Given the description of an element on the screen output the (x, y) to click on. 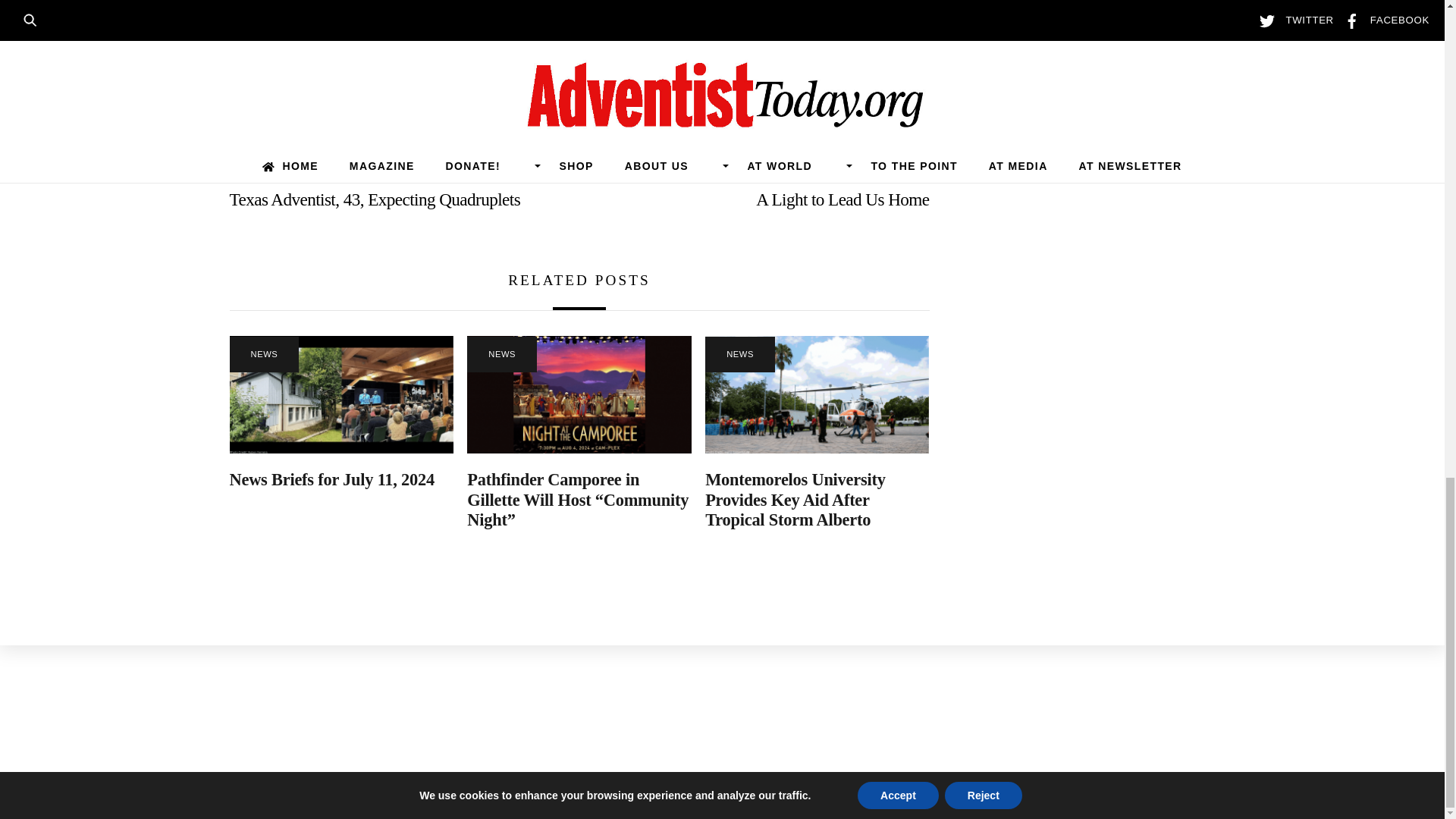
07.11.24 News Briefs (340, 394)
A Light to Lead Us Home (764, 199)
07.10.24 Night at the Camporee (578, 394)
07.09.24 Montemorelos Helps After Alberto (816, 394)
Texas Adventist, 43, Expecting Quadruplets (392, 199)
To comment, click here (368, 111)
NEWS (263, 354)
